Given the description of an element on the screen output the (x, y) to click on. 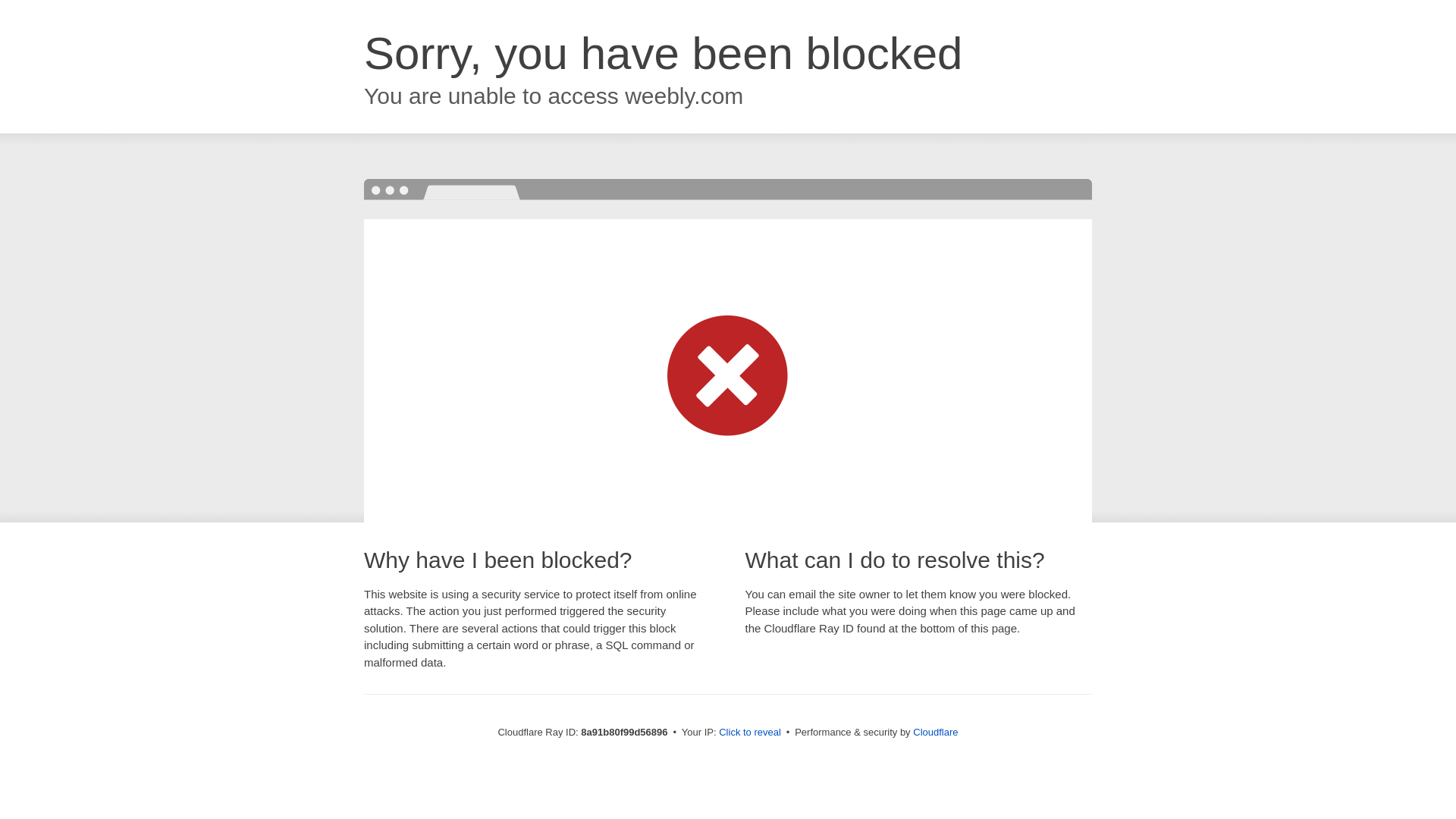
Click to reveal (749, 732)
Cloudflare (935, 731)
